Given the description of an element on the screen output the (x, y) to click on. 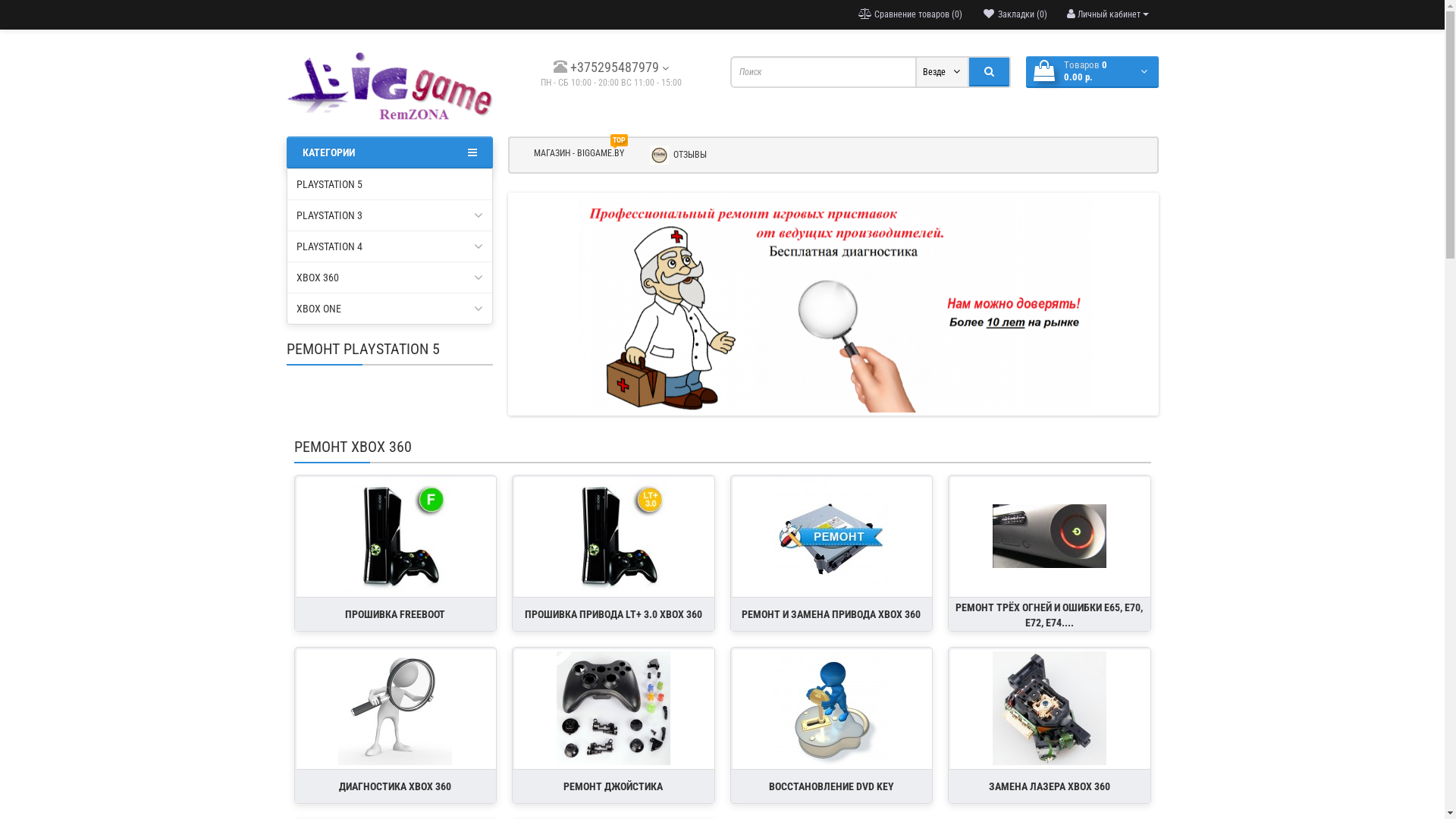
PLAYSTATION 3 Element type: text (389, 215)
rem.biggame.by Element type: hover (389, 86)
PLAYSTATION 5 Element type: text (389, 184)
PLAYSTATION 4 Element type: text (389, 246)
XBOX 360 Element type: text (389, 277)
XBOX ONE Element type: text (389, 308)
